Given the description of an element on the screen output the (x, y) to click on. 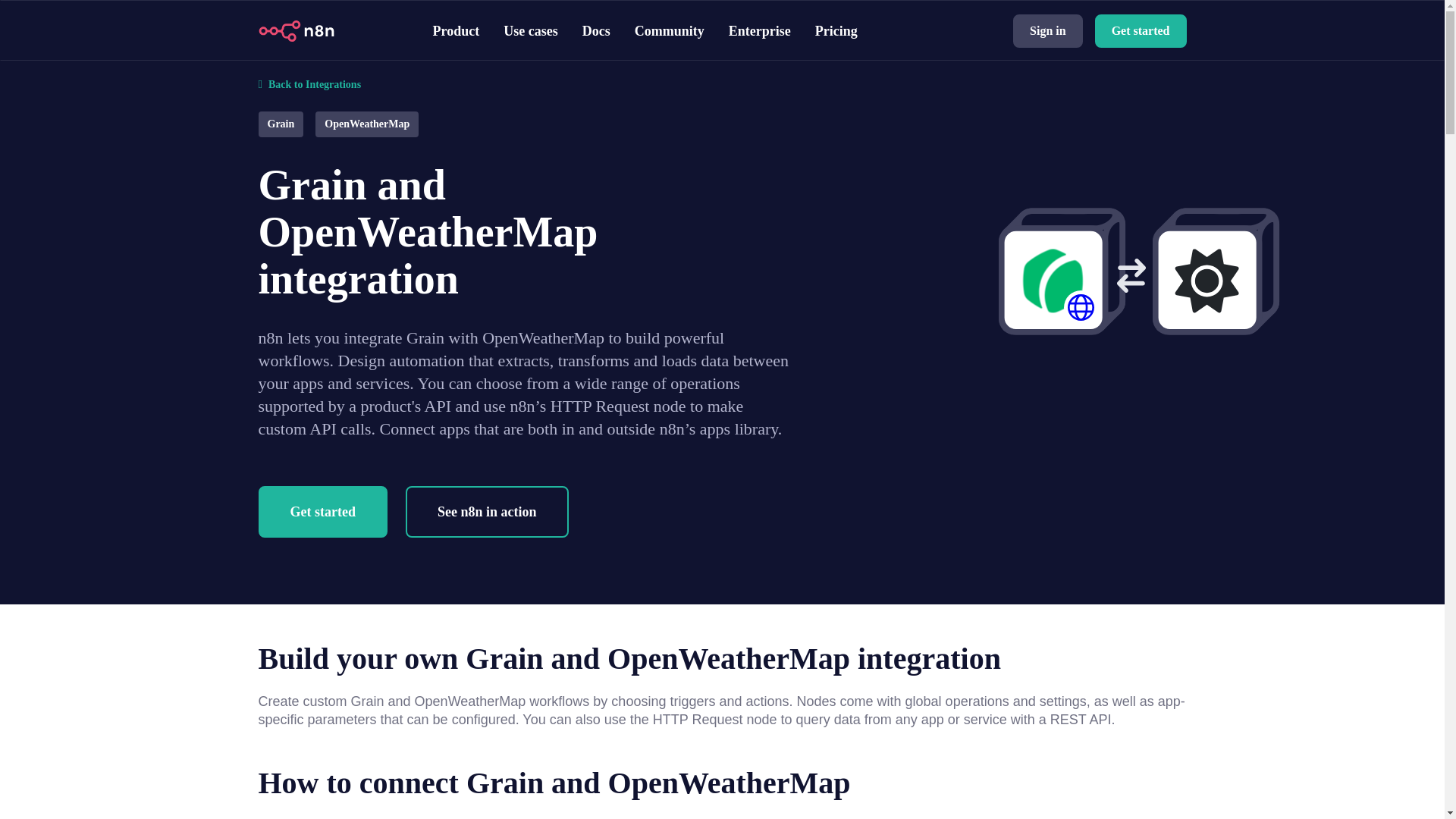
Pricing (836, 31)
Enterprise (759, 31)
OpenWeatherMap (366, 123)
Back to Integrations (721, 74)
Get started (322, 511)
Sign in (1048, 30)
See n8n in action (487, 511)
Docs (596, 31)
Product (455, 31)
Grain (280, 123)
Get started (1140, 30)
